Given the description of an element on the screen output the (x, y) to click on. 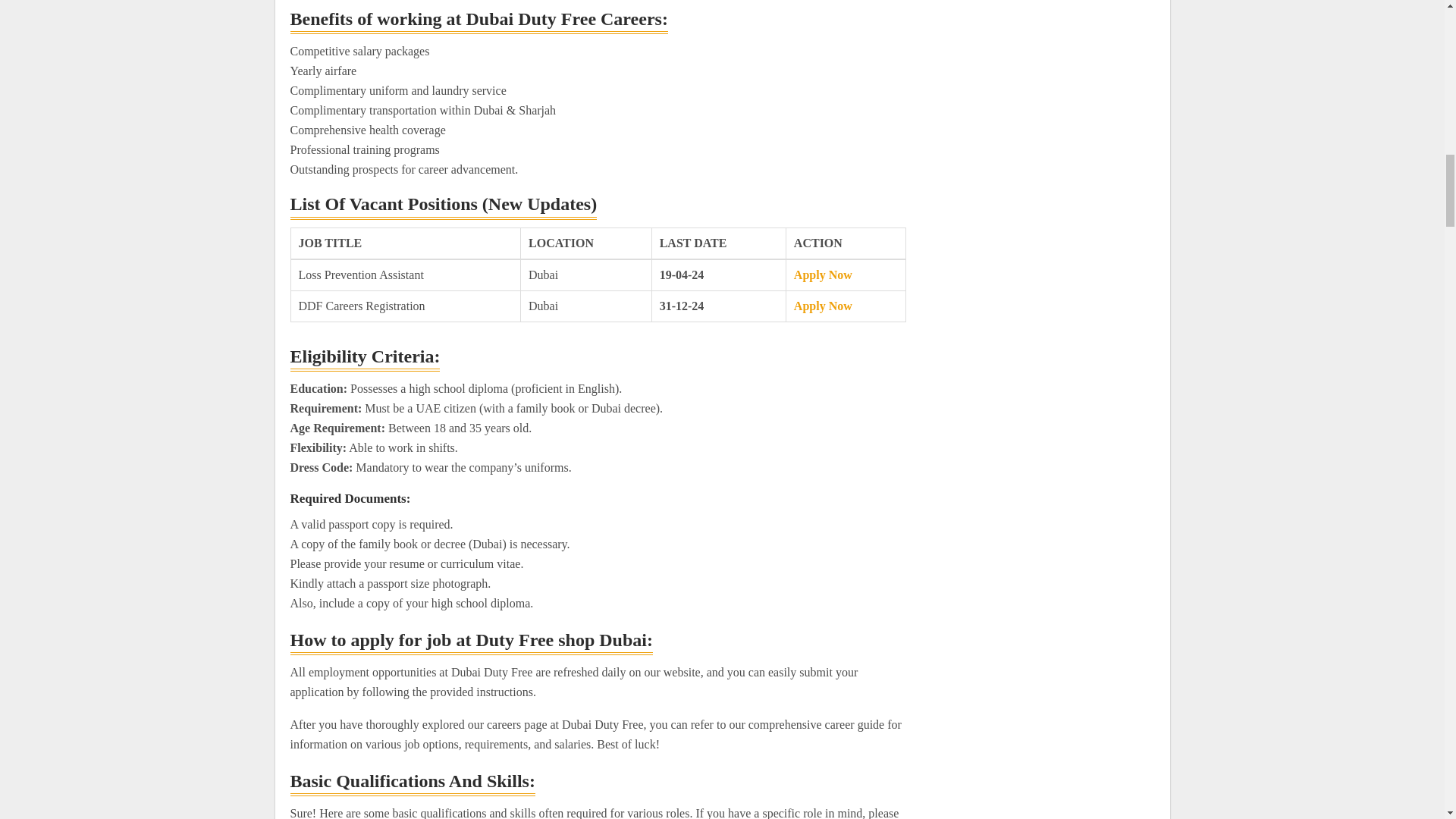
Apply Now (822, 274)
Apply Now (822, 305)
